Given the description of an element on the screen output the (x, y) to click on. 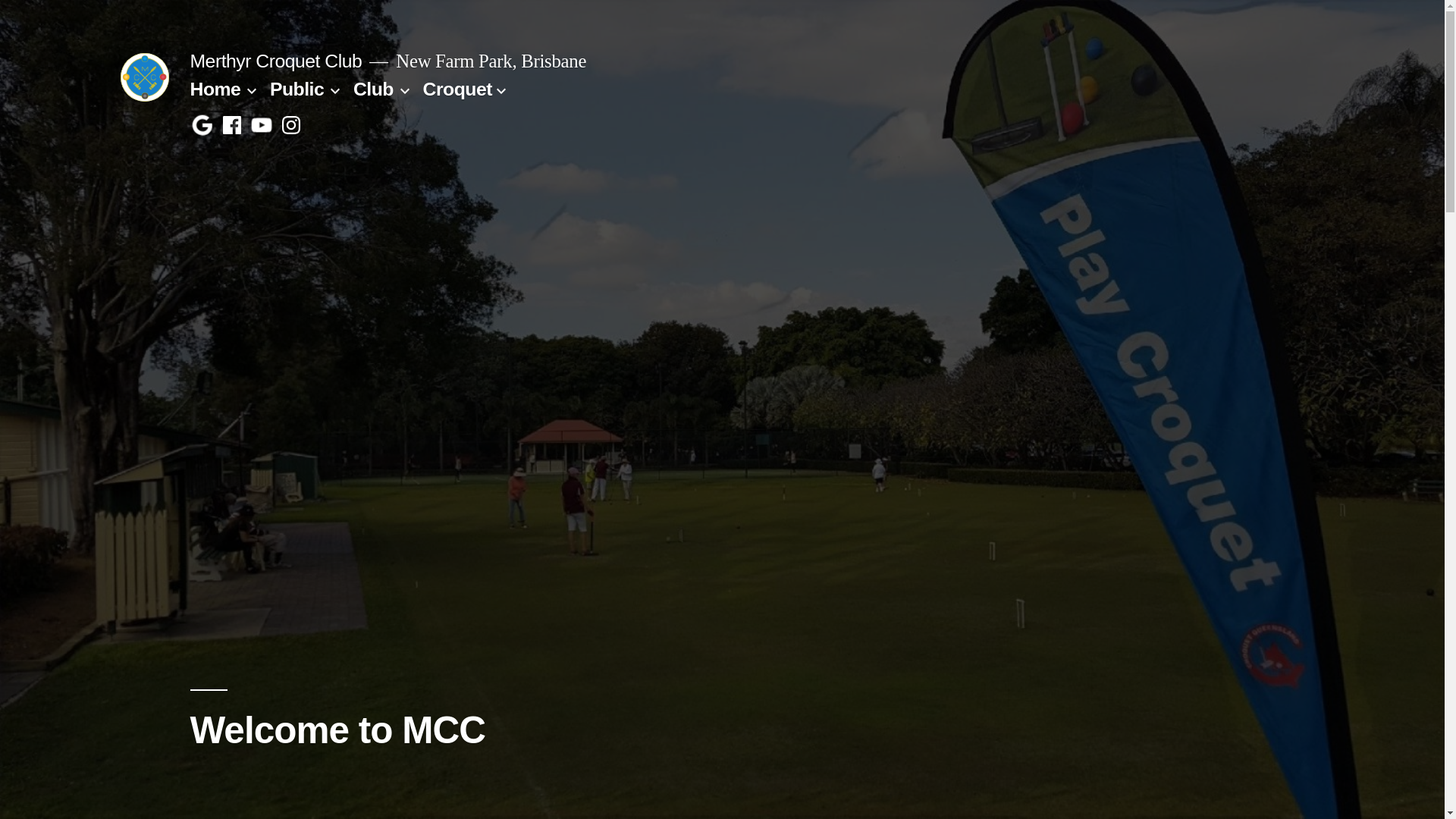
Club Element type: text (373, 88)
Home Element type: text (214, 88)
Facebook Element type: text (231, 125)
Instagram Element type: text (291, 125)
Youtube Element type: text (261, 125)
Croquet Element type: text (457, 88)
Public Element type: text (296, 88)
Google Maps Element type: text (201, 125)
Merthyr Croquet Club Element type: text (275, 60)
